Given the description of an element on the screen output the (x, y) to click on. 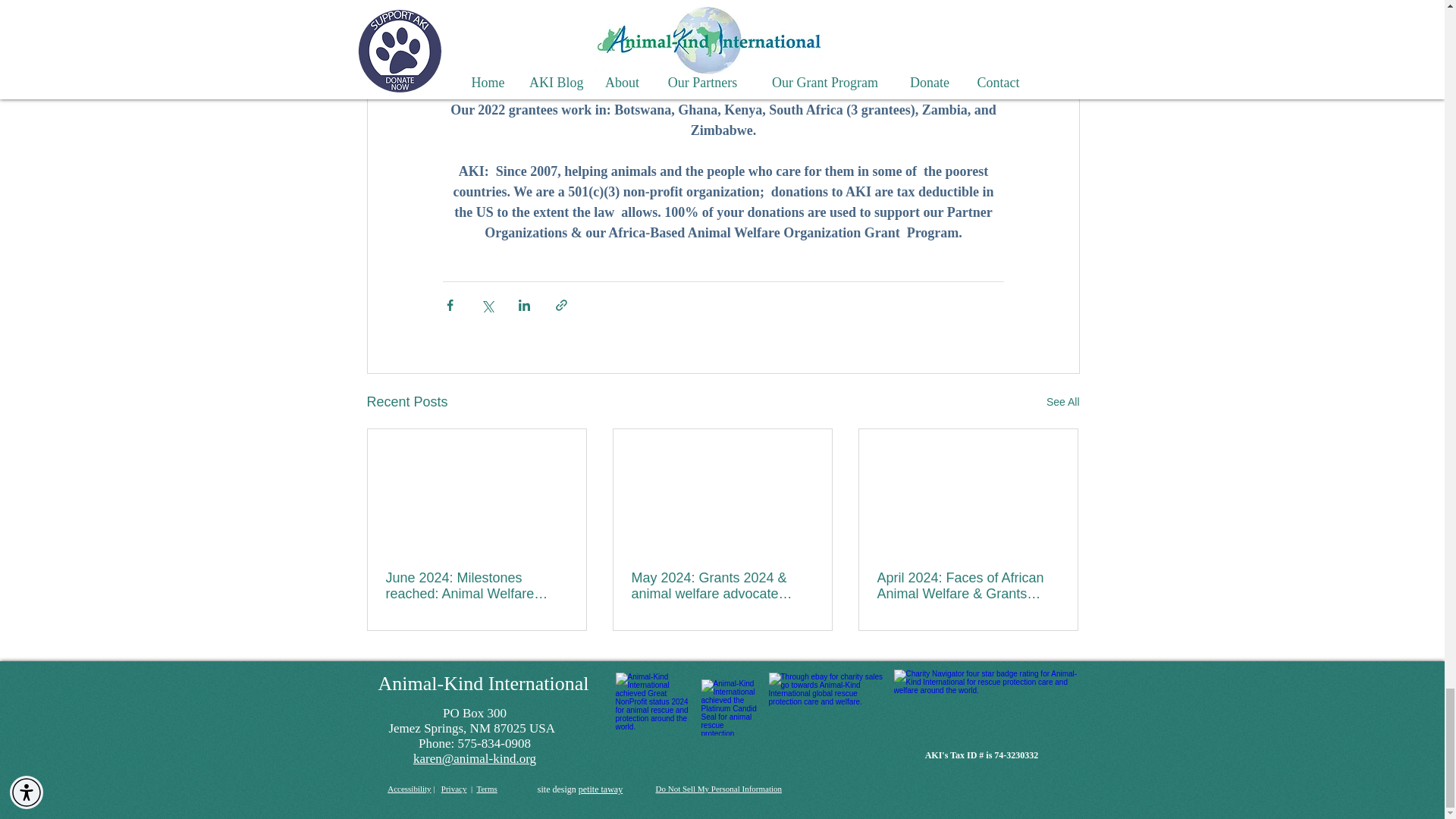
See All (1063, 402)
